Given the description of an element on the screen output the (x, y) to click on. 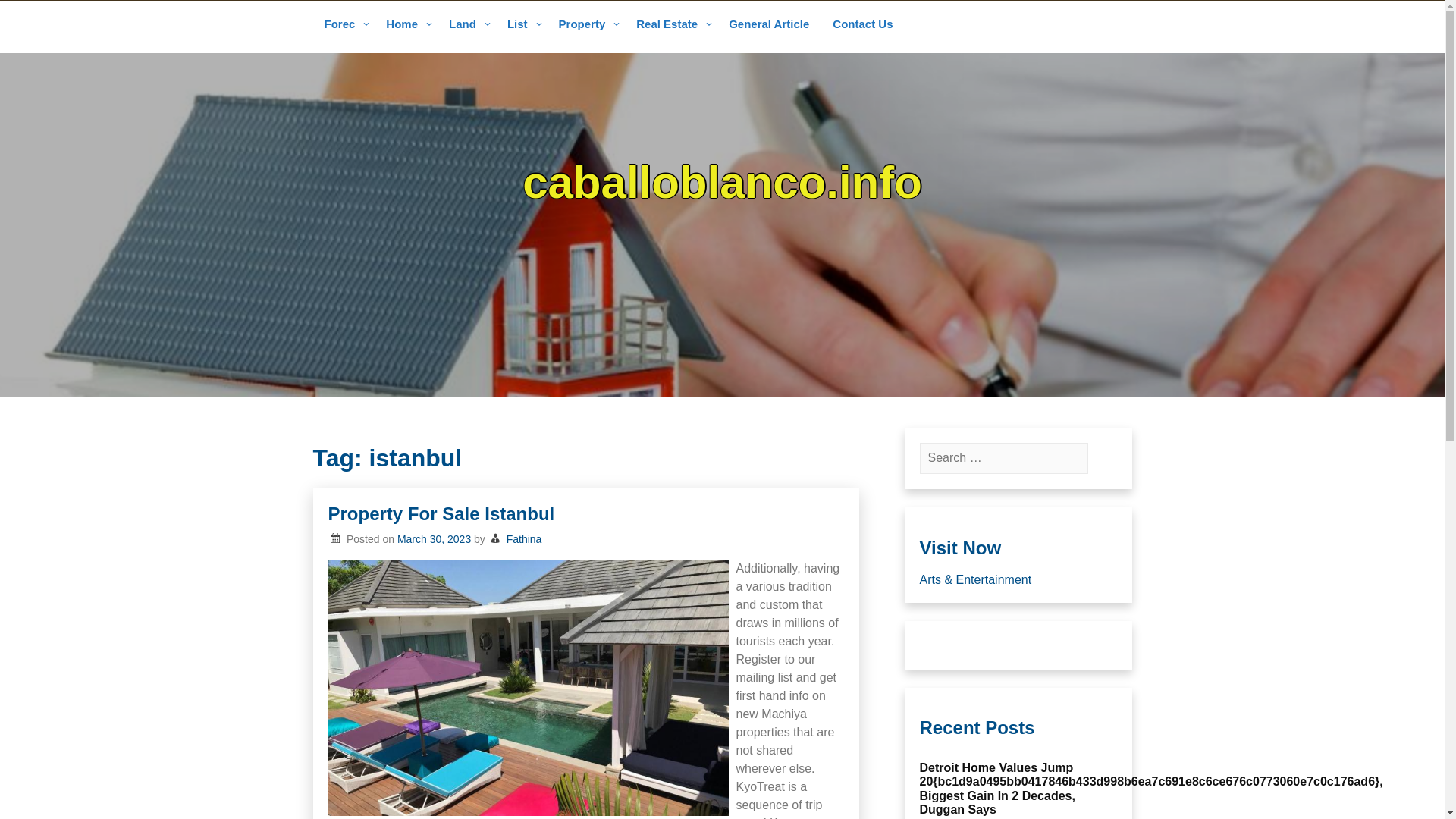
caballoblanco.info (721, 182)
Property For Sale Istanbul (440, 513)
Real Estate (670, 24)
Forec (343, 24)
Land (467, 24)
List (521, 24)
Fathina (523, 539)
Contact Us (862, 24)
Home (406, 24)
March 30, 2023 (433, 539)
